Given the description of an element on the screen output the (x, y) to click on. 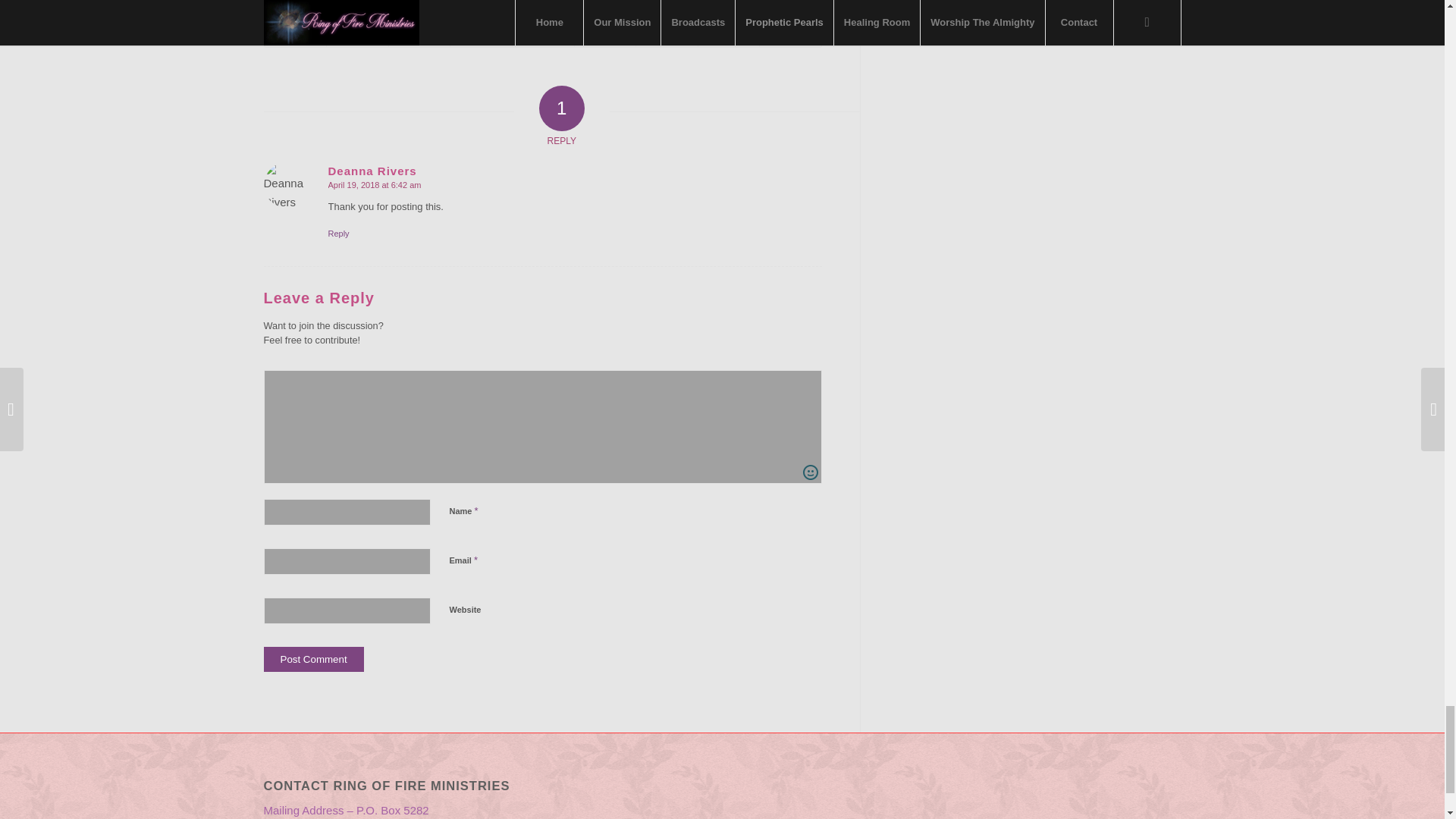
April 19, 2018 at 6:42 am (373, 184)
Reply (338, 233)
Insert Emoji (810, 472)
Post Comment (313, 659)
